Given the description of an element on the screen output the (x, y) to click on. 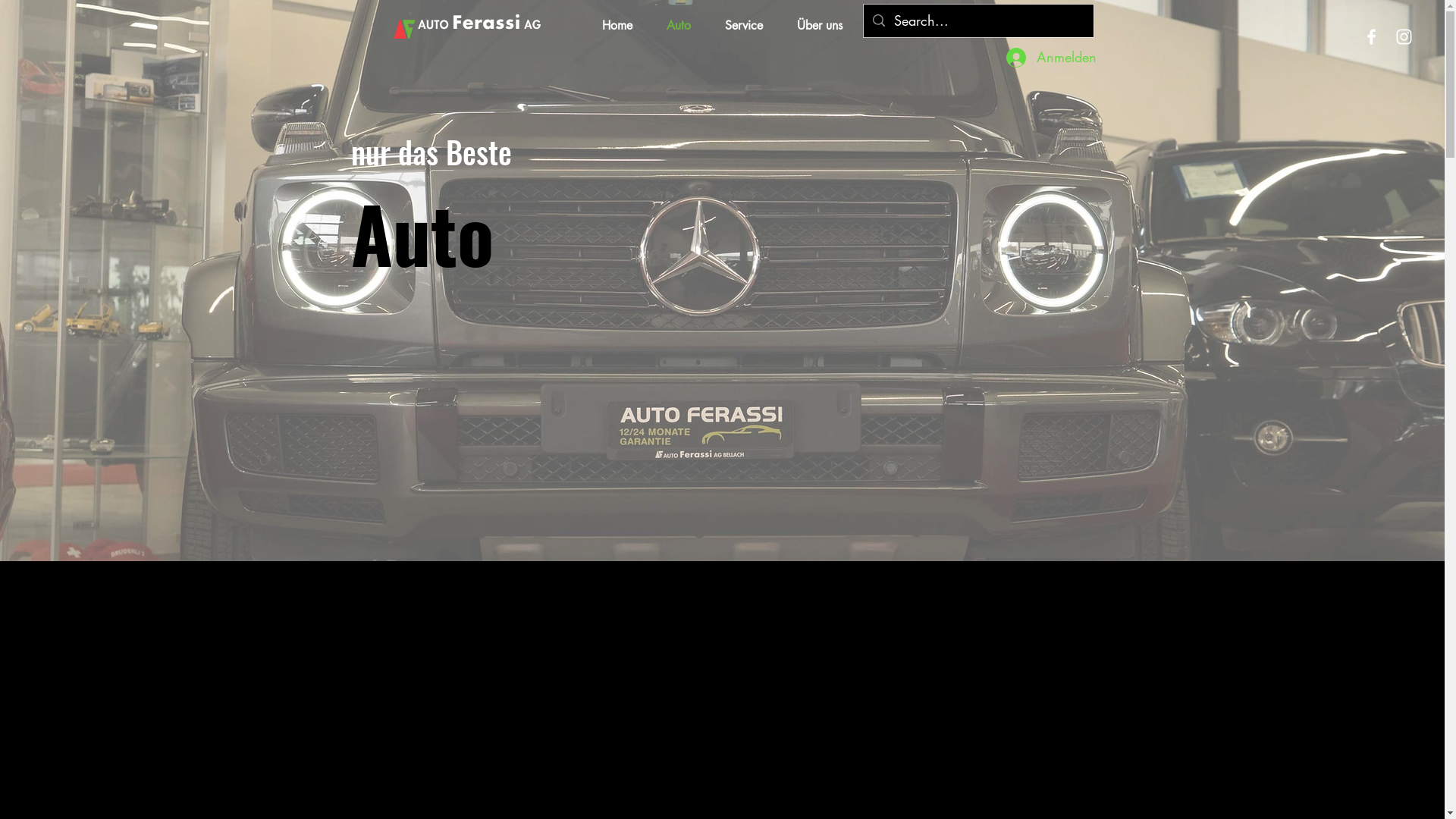
Auto Element type: text (678, 25)
Service Element type: text (744, 25)
Home Element type: text (617, 25)
Anmelden Element type: text (1039, 57)
